Given the description of an element on the screen output the (x, y) to click on. 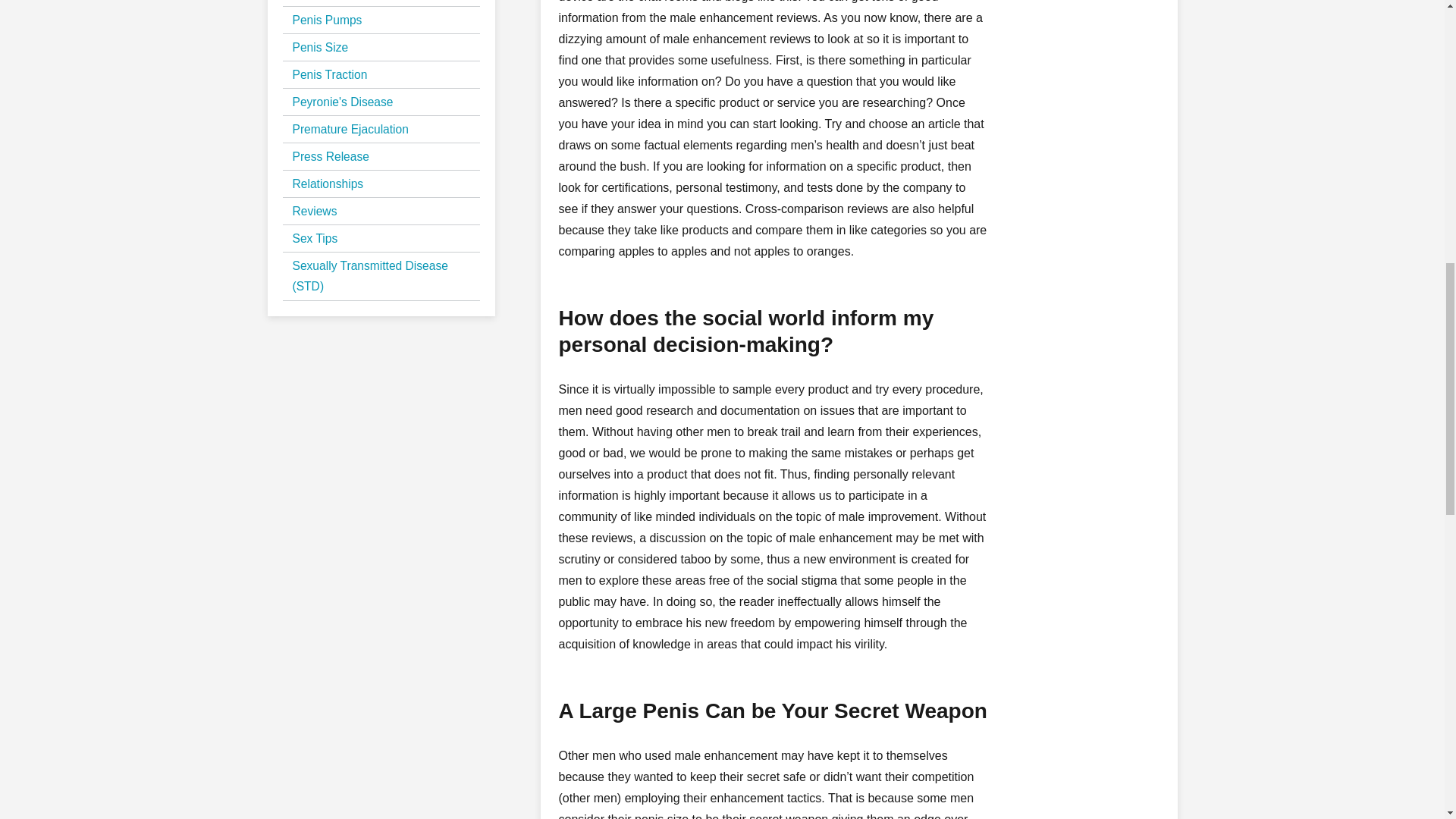
Penis Size (320, 46)
Press Release (330, 156)
Penis Traction (330, 74)
Relationships (328, 183)
Peyronie's Disease (342, 101)
Sex Tips (314, 238)
Reviews (314, 210)
Premature Ejaculation (350, 128)
Penis Pumps (327, 19)
Penis Extenders (335, 1)
